Given the description of an element on the screen output the (x, y) to click on. 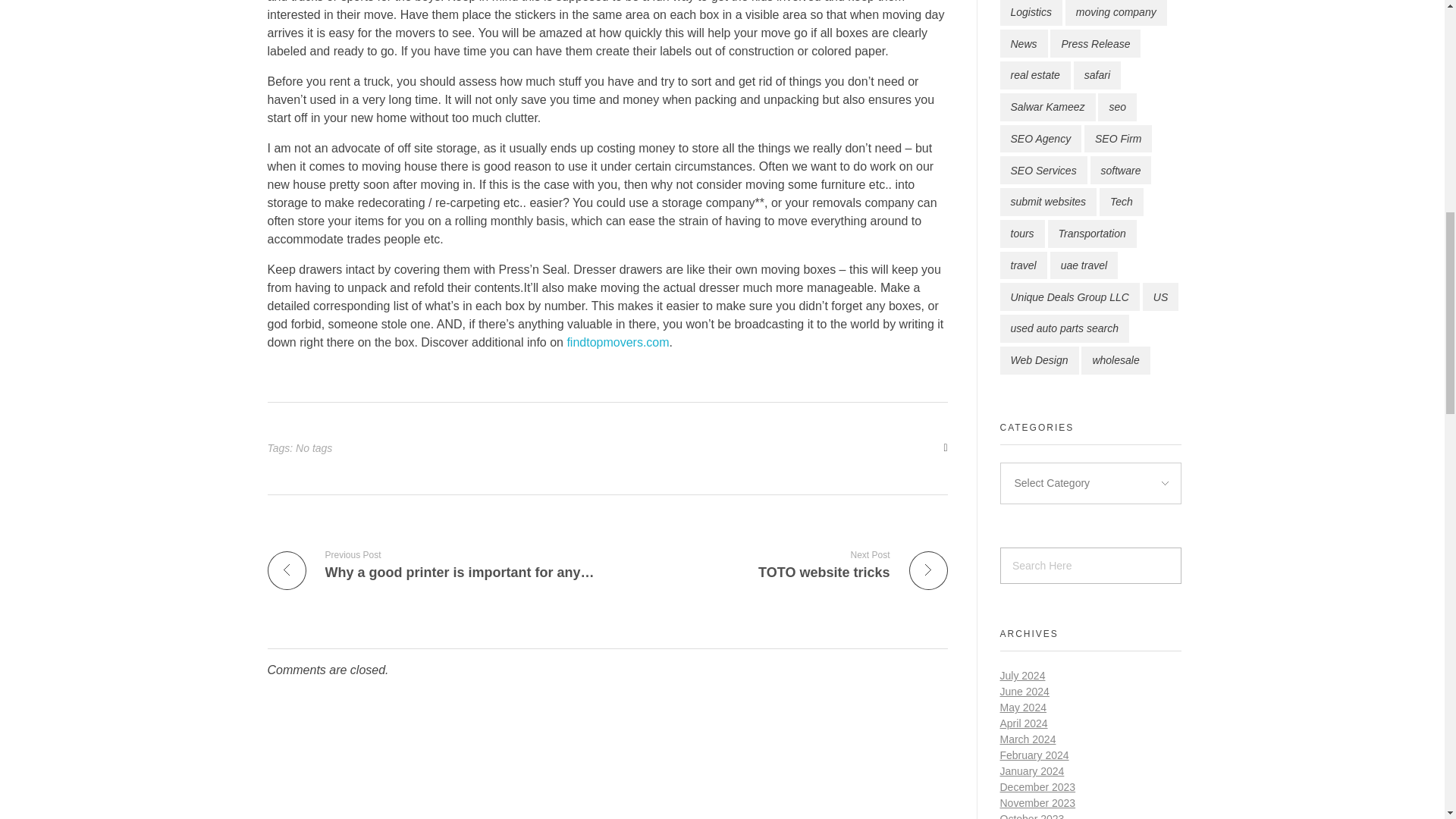
Press Release (783, 563)
moving company (1094, 43)
safari (1116, 13)
Logistics (1097, 75)
real estate (1029, 13)
findtopmovers.com (1034, 75)
News (617, 341)
